Given the description of an element on the screen output the (x, y) to click on. 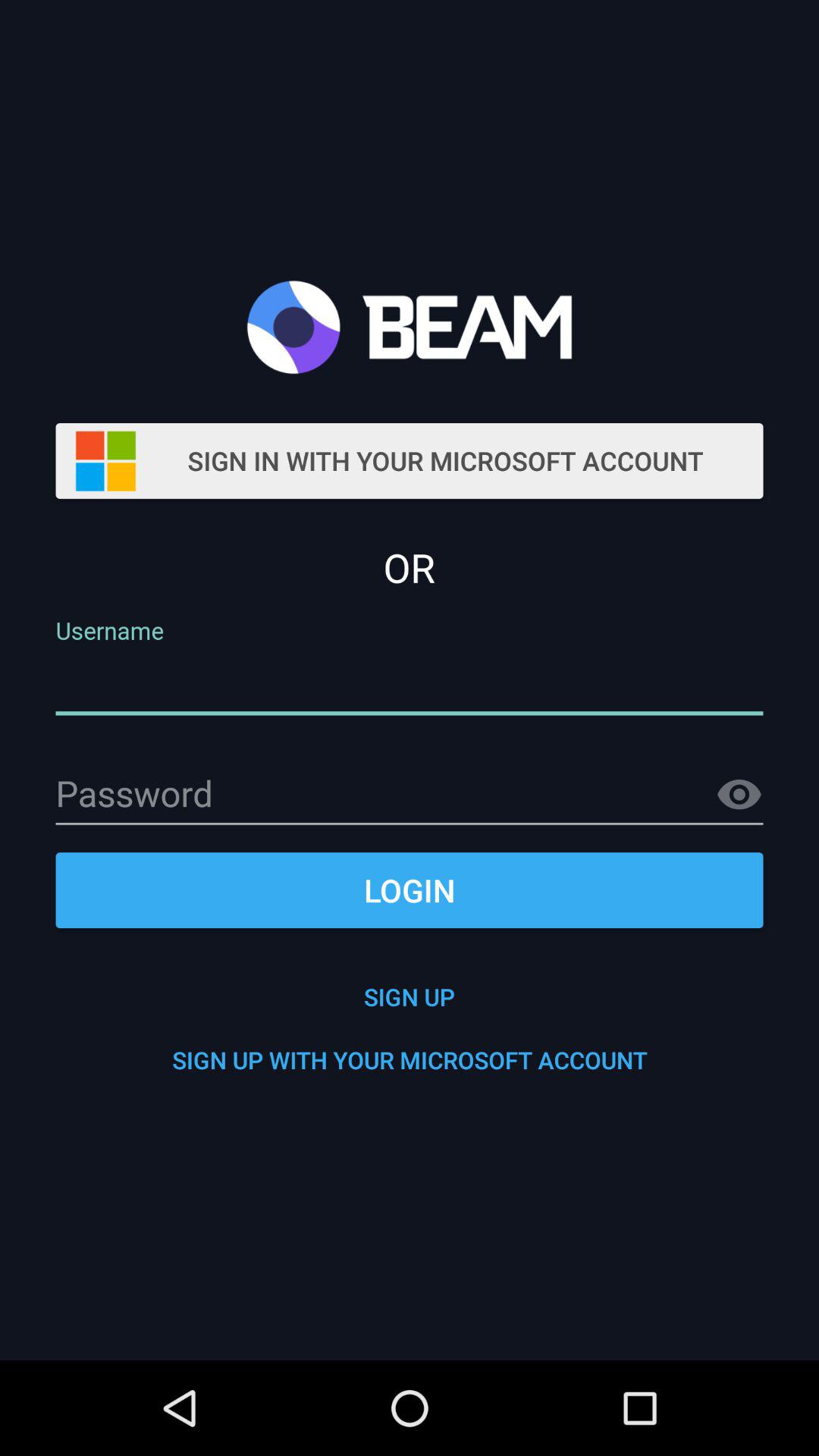
input password (409, 795)
